Given the description of an element on the screen output the (x, y) to click on. 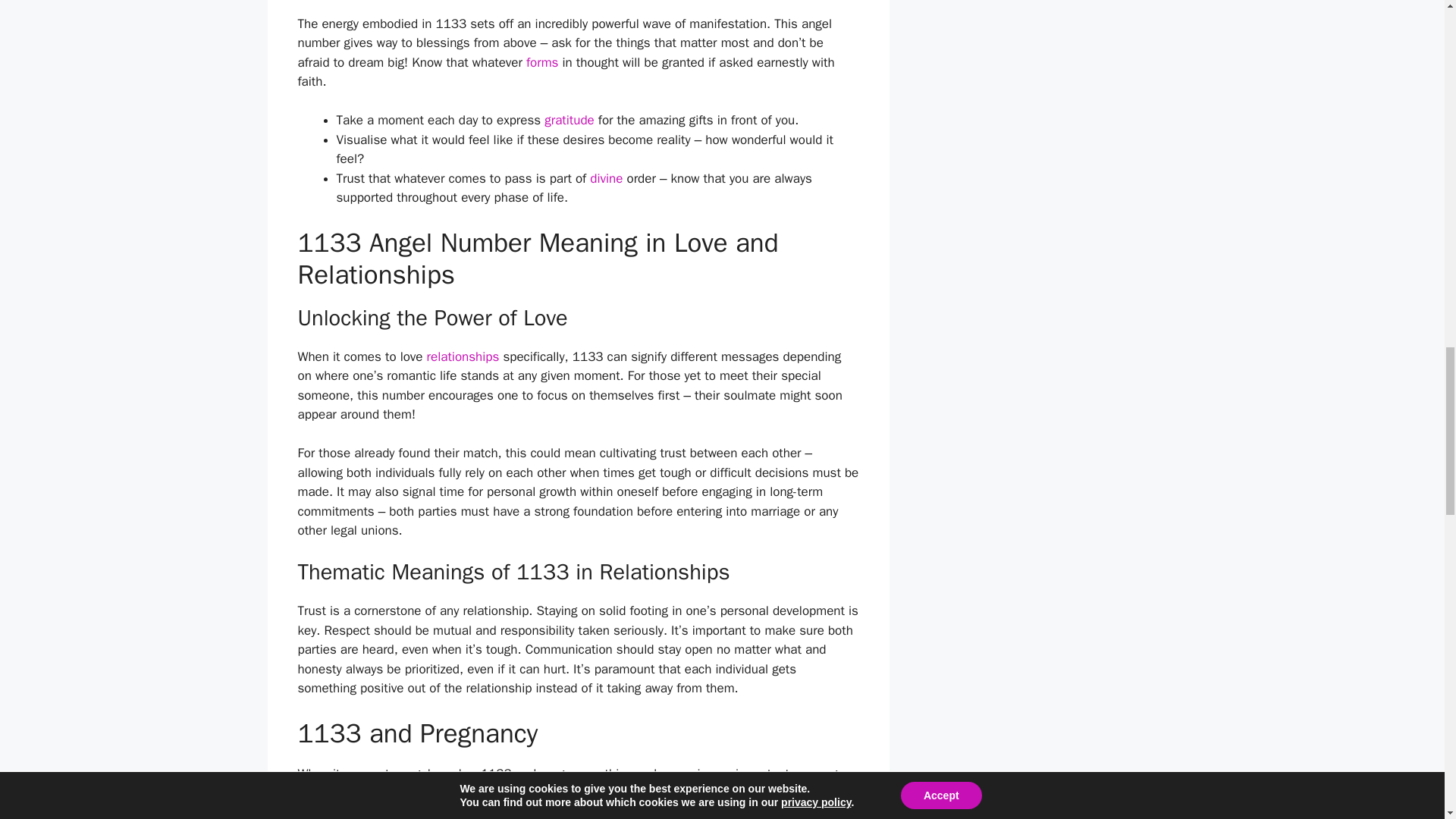
divine (687, 793)
divine (606, 177)
relationships (462, 356)
forms (541, 62)
gratitude (569, 119)
